Given the description of an element on the screen output the (x, y) to click on. 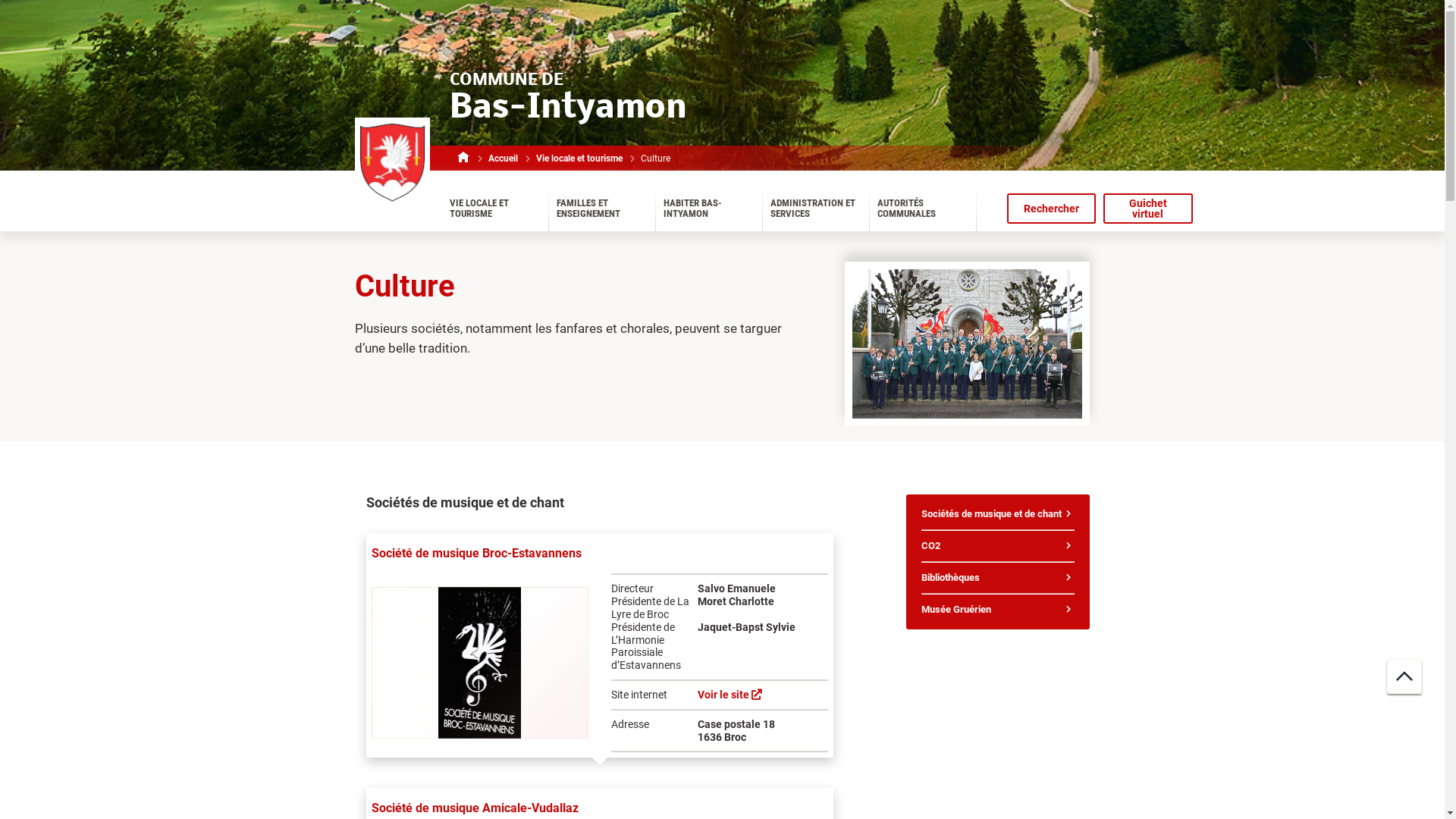
Guichet virtuel Element type: text (1147, 208)
VIE LOCALE ET TOURISME Element type: text (494, 208)
HABITER BAS-INTYAMON Element type: text (708, 208)
Vie locale et tourisme Element type: text (578, 158)
Accueil Element type: text (502, 158)
FAMILLES ET ENSEIGNEMENT Element type: text (602, 208)
Voir le site Element type: text (729, 694)
Rechercher Element type: text (1051, 208)
Aller au contenu principal Element type: text (0, 0)
ADMINISTRATION ET SERVICES Element type: text (815, 208)
CO2 Element type: text (998, 545)
